Given the description of an element on the screen output the (x, y) to click on. 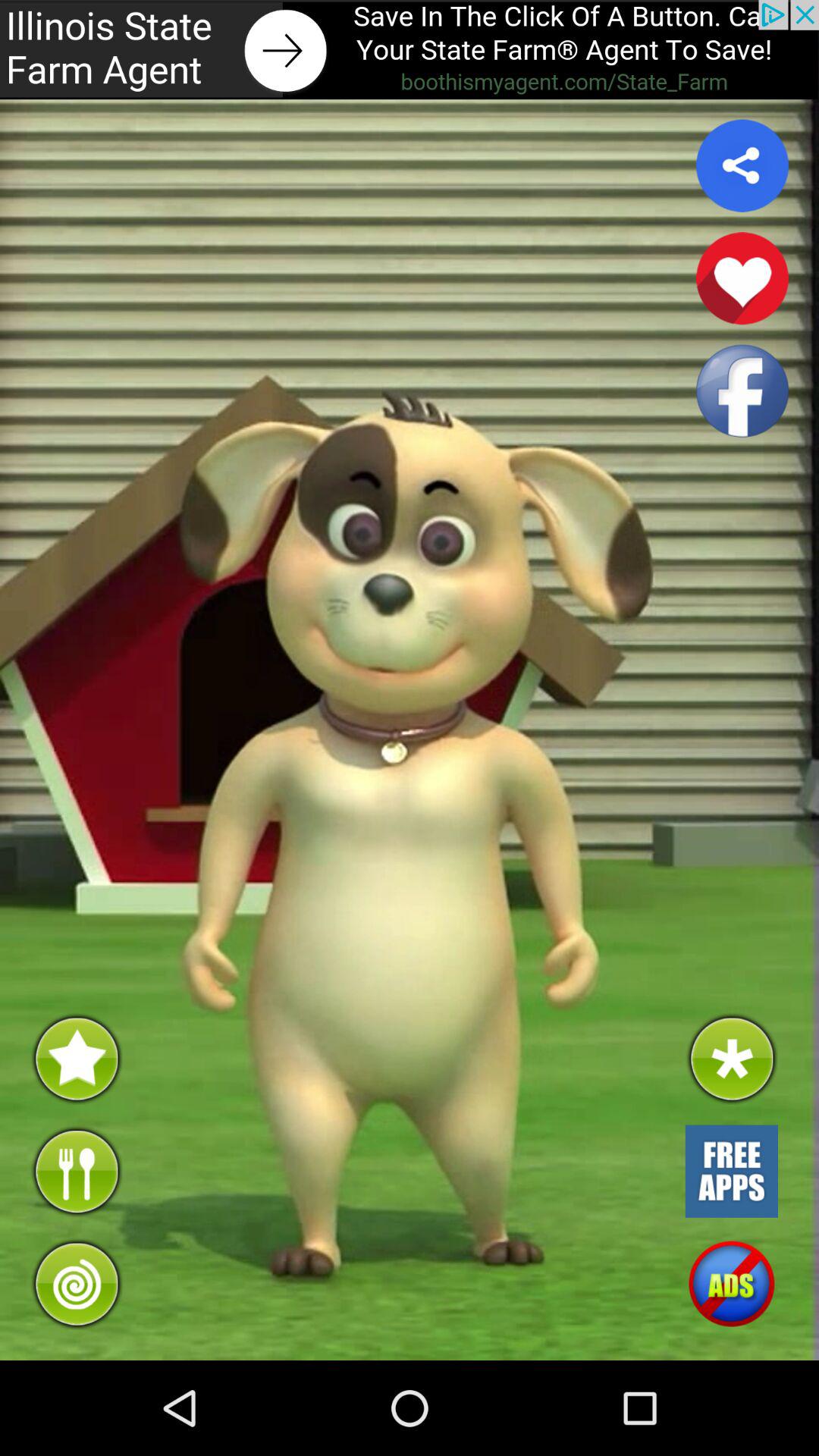
select favorite (742, 278)
